Given the description of an element on the screen output the (x, y) to click on. 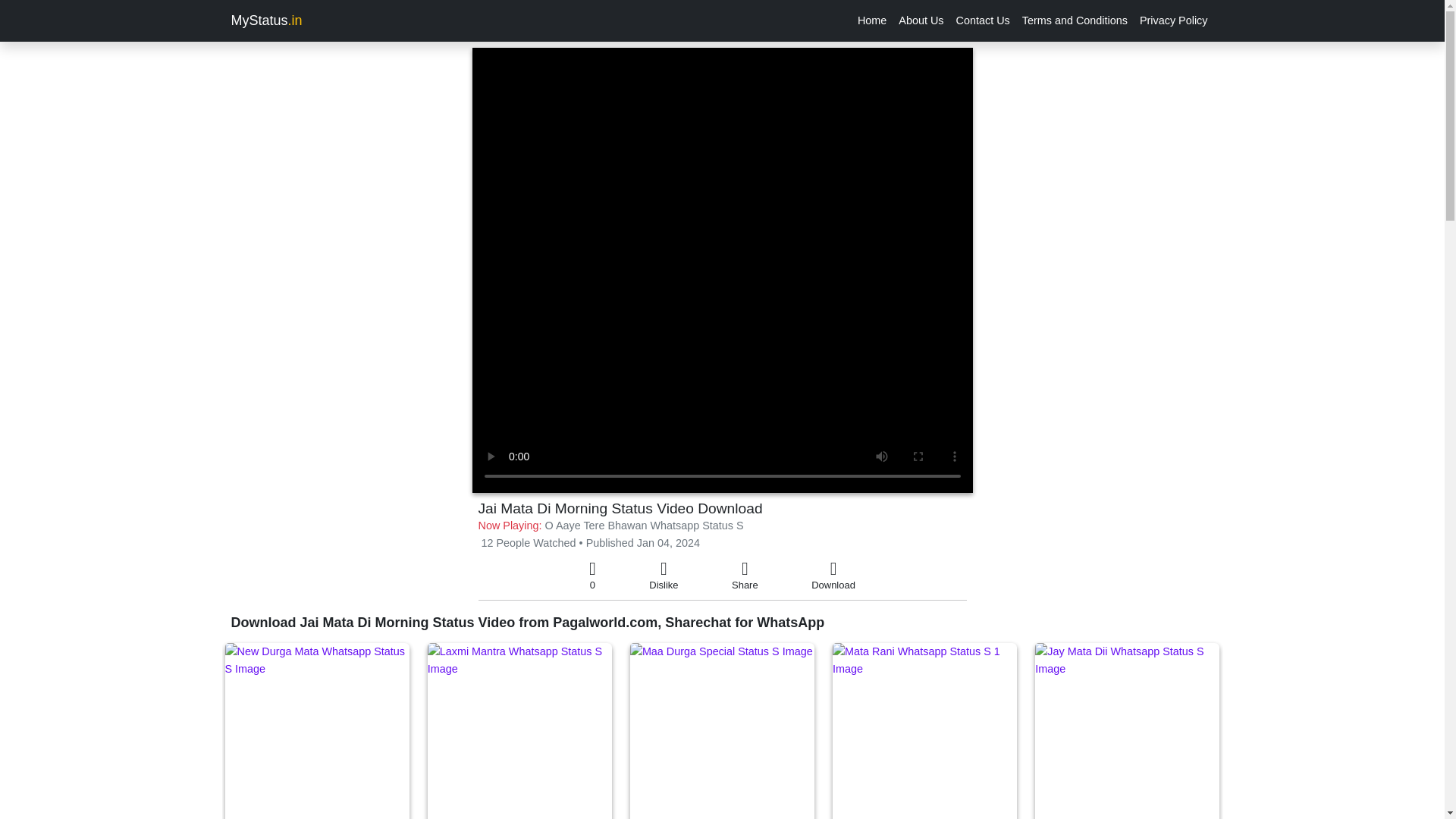
Home (871, 20)
MyStatus.in (265, 20)
About Us (920, 20)
Privacy Policy (1174, 20)
Dislike (663, 576)
Share (744, 576)
0 (592, 576)
Contact Us (983, 20)
Download (833, 576)
Terms and Conditions (1075, 20)
